Given the description of an element on the screen output the (x, y) to click on. 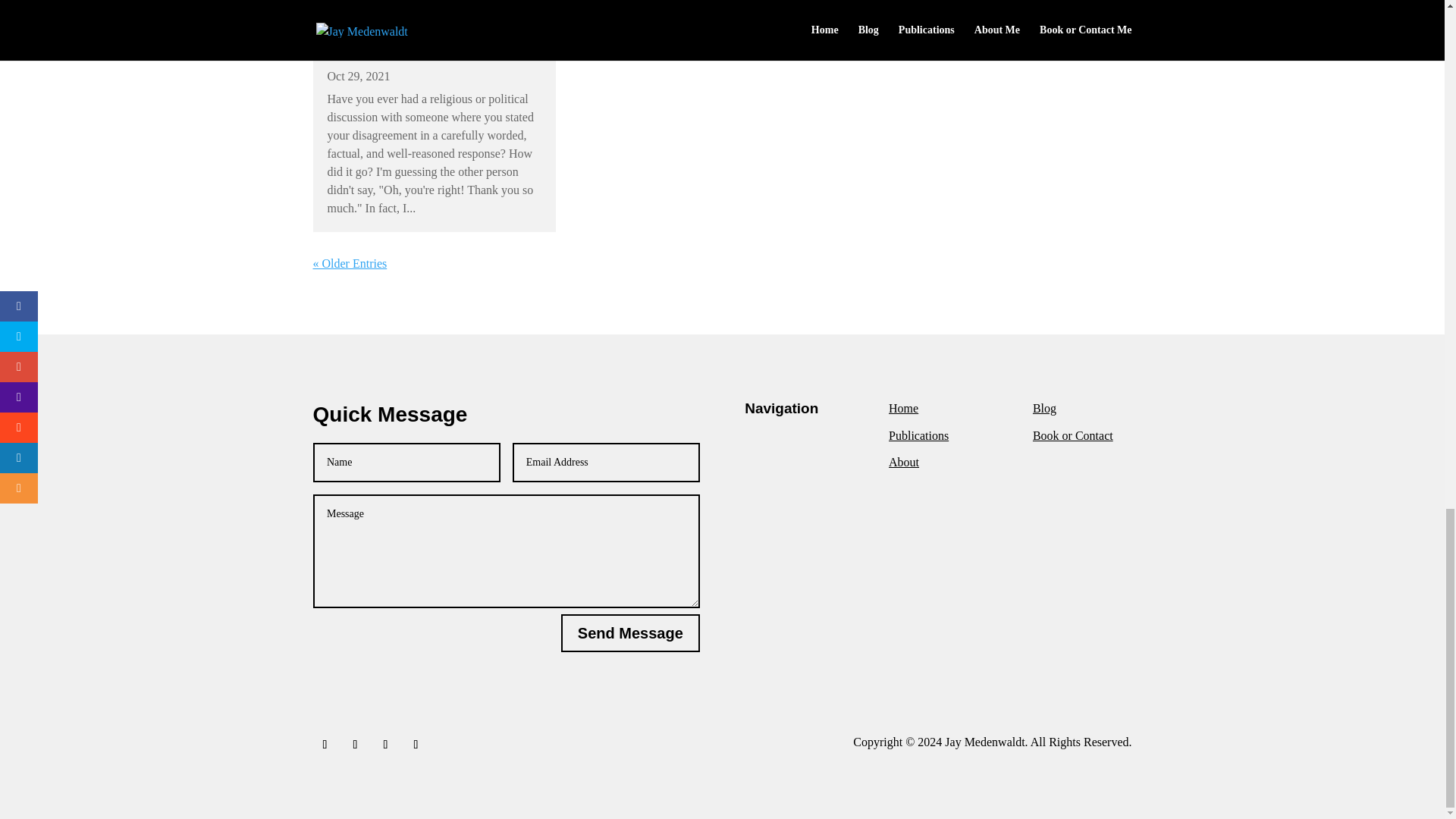
Follow on X (354, 744)
Home (903, 408)
Send Message (630, 632)
Follow on Facebook (324, 744)
Follow on Instagram (415, 744)
Follow on LinkedIn (384, 744)
Publications (918, 435)
